Given the description of an element on the screen output the (x, y) to click on. 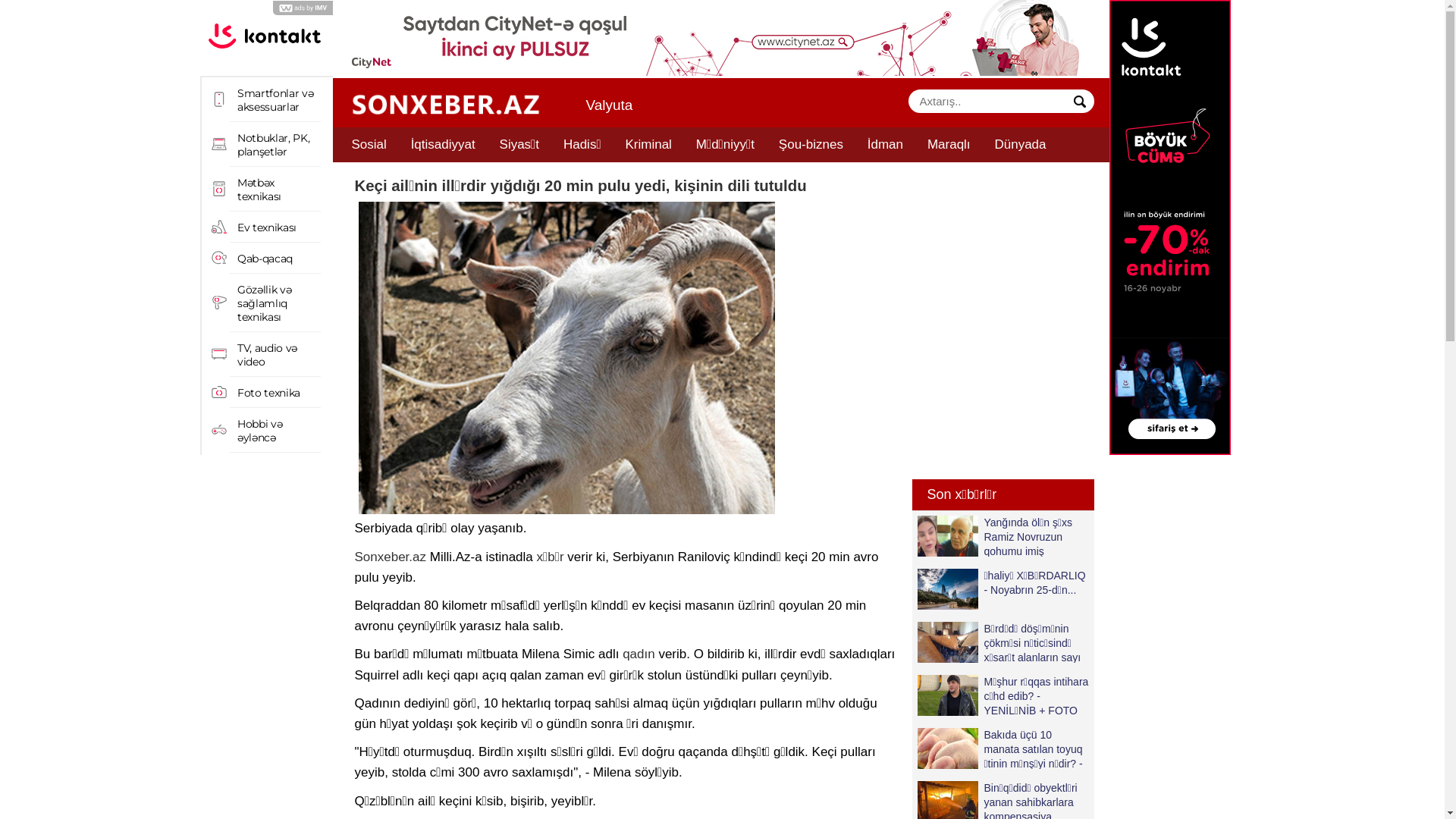
Sosial Element type: text (368, 144)
Sonxeber.az Element type: text (390, 556)
Valyuta Element type: text (608, 104)
  Element type: text (1080, 100)
Kriminal Element type: text (647, 144)
